Given the description of an element on the screen output the (x, y) to click on. 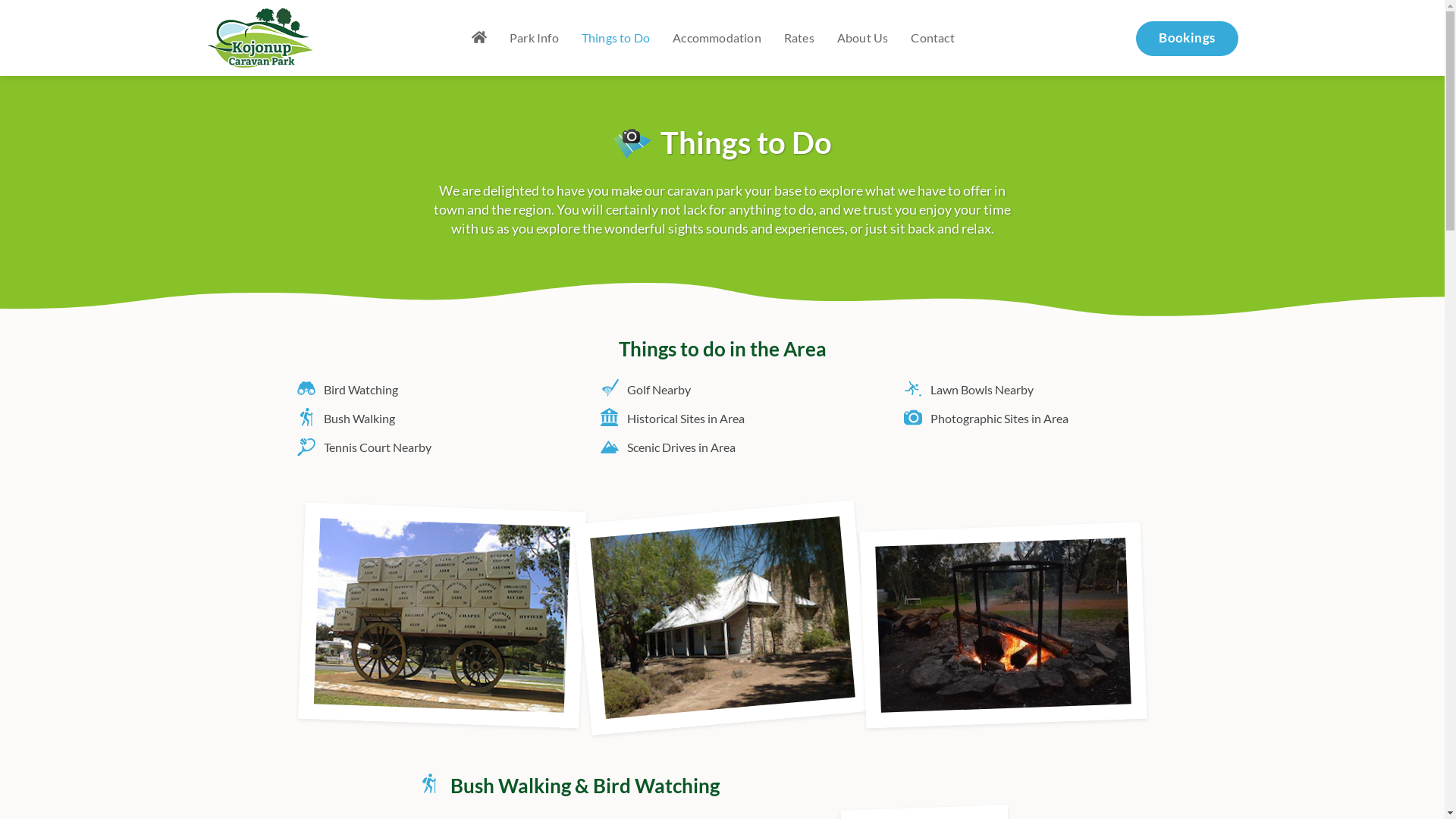
Accommodation Element type: text (716, 37)
About Us Element type: text (862, 37)
Contact Element type: text (931, 37)
Rates Element type: text (799, 37)
Park Info Element type: text (533, 37)
Things to Do Element type: text (615, 37)
Bookings Element type: text (1186, 38)
